Given the description of an element on the screen output the (x, y) to click on. 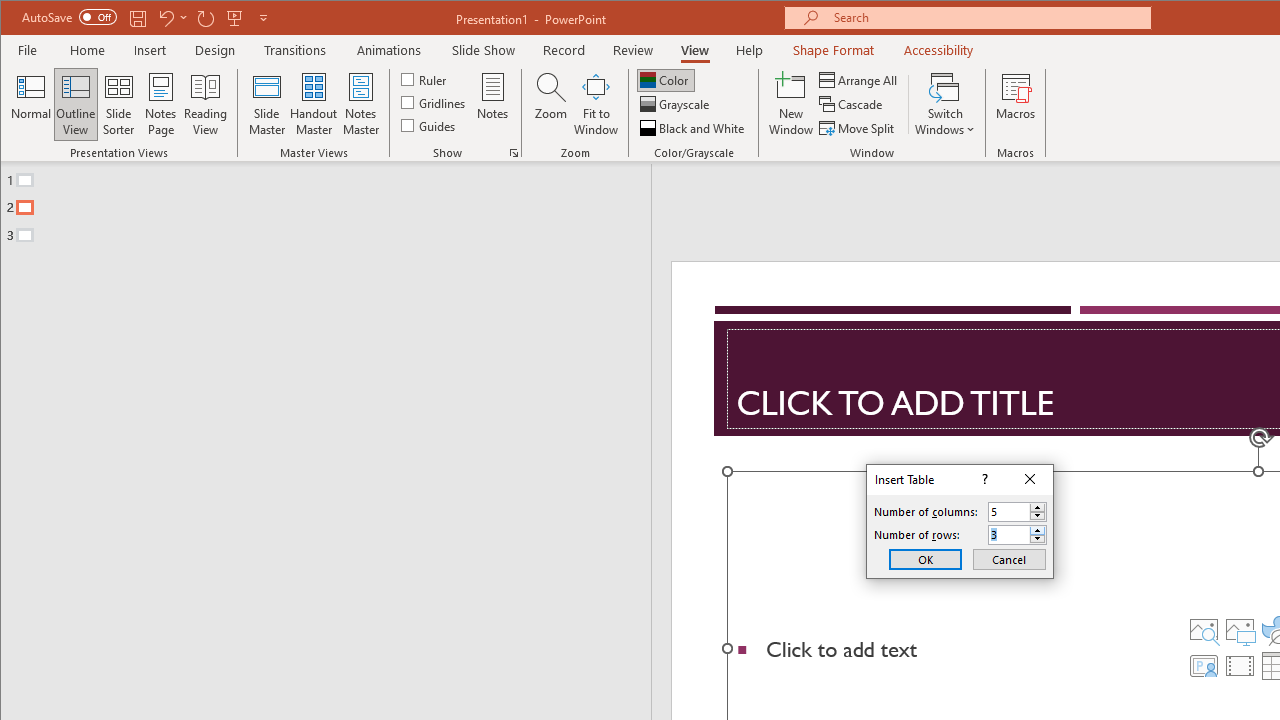
Notes Page (160, 104)
New Window (791, 104)
Stock Images (1203, 629)
Handout Master (314, 104)
Cascade (852, 103)
